Given the description of an element on the screen output the (x, y) to click on. 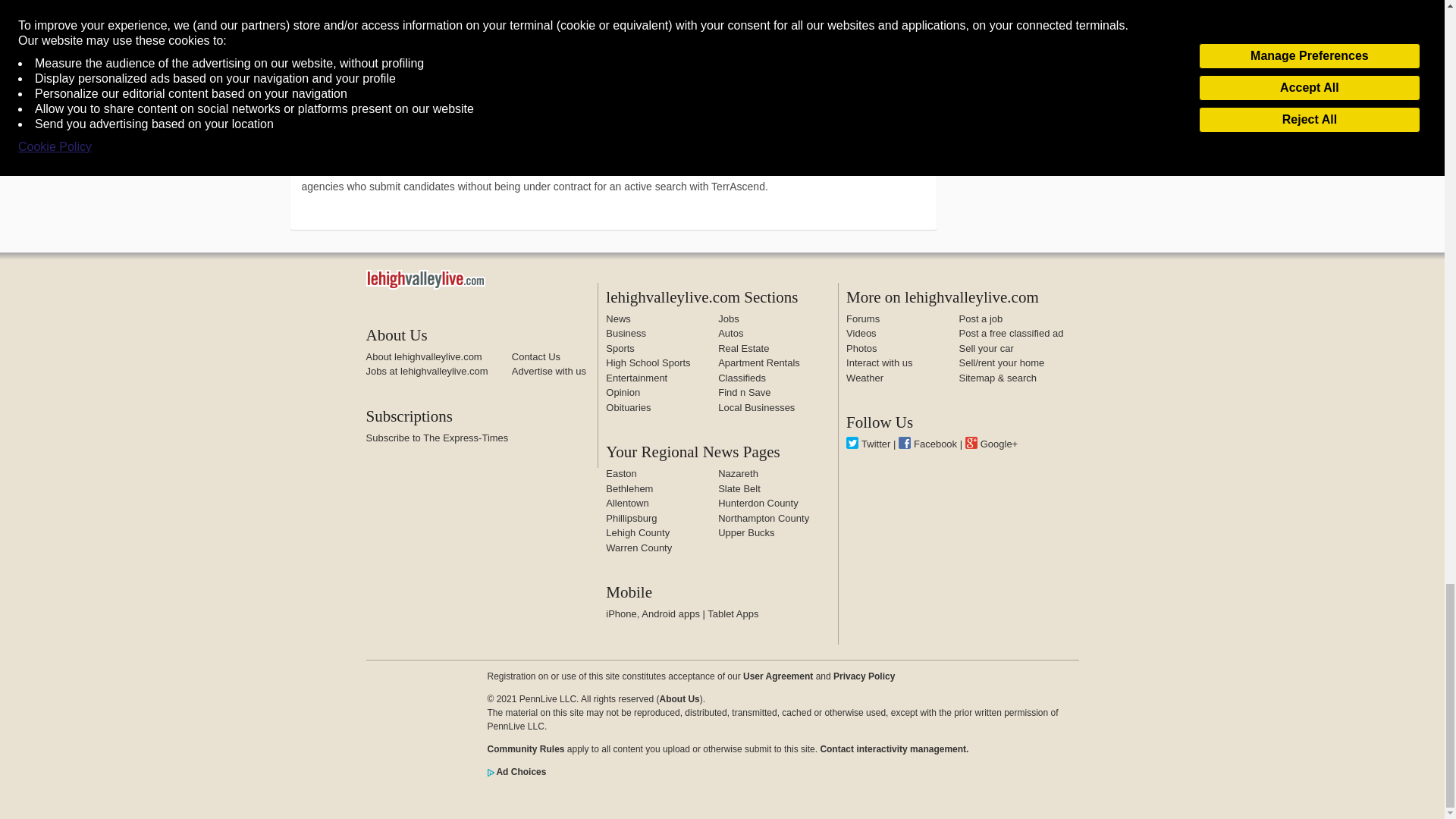
Contact Us (536, 356)
User Agreement (777, 675)
Community Rules (525, 748)
Privacy Policy (863, 675)
Community Rules (893, 748)
